Given the description of an element on the screen output the (x, y) to click on. 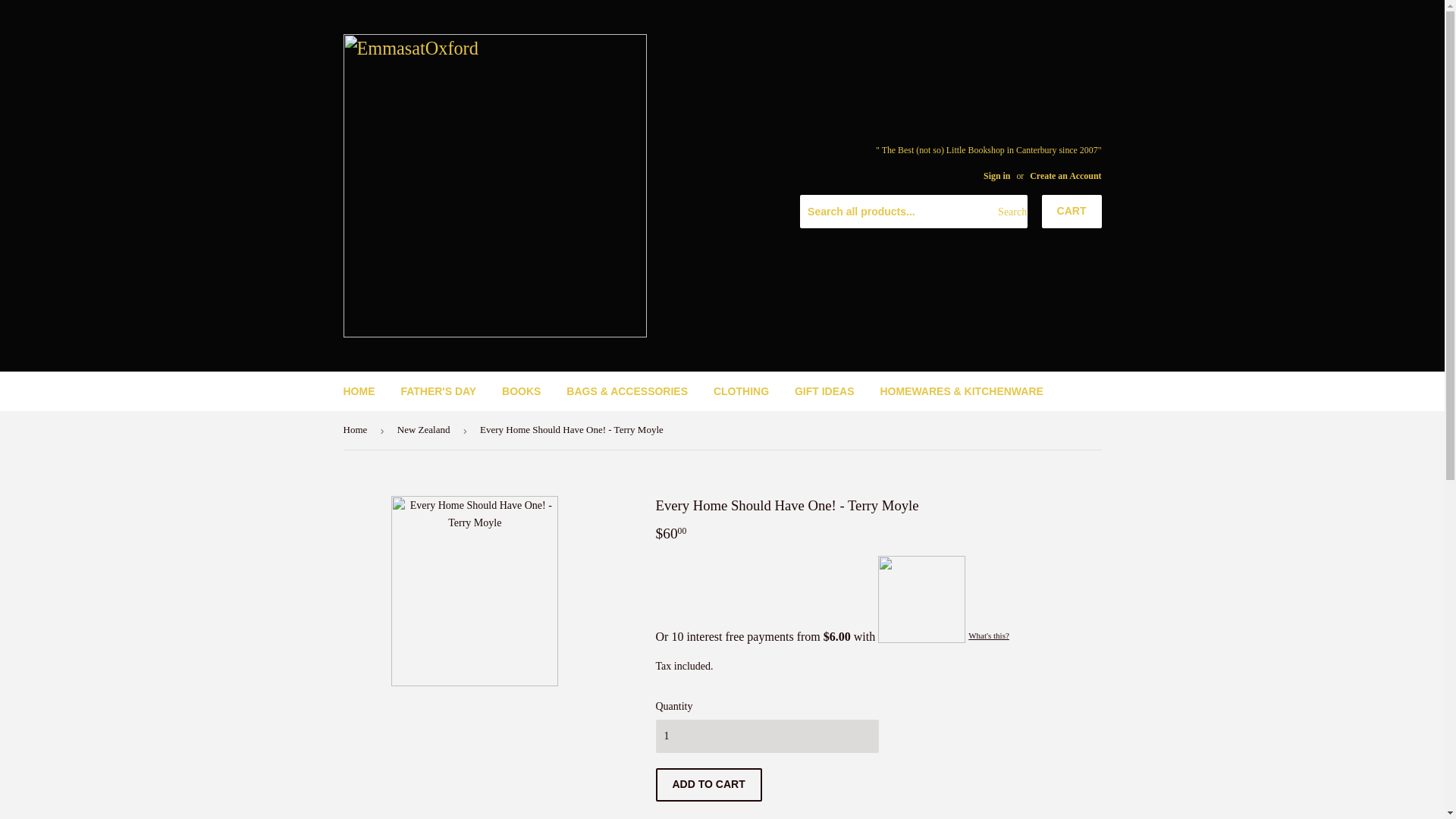
CART (1072, 211)
Sign in (997, 175)
1 (766, 735)
Create an Account (1064, 175)
Search (1009, 212)
